Given the description of an element on the screen output the (x, y) to click on. 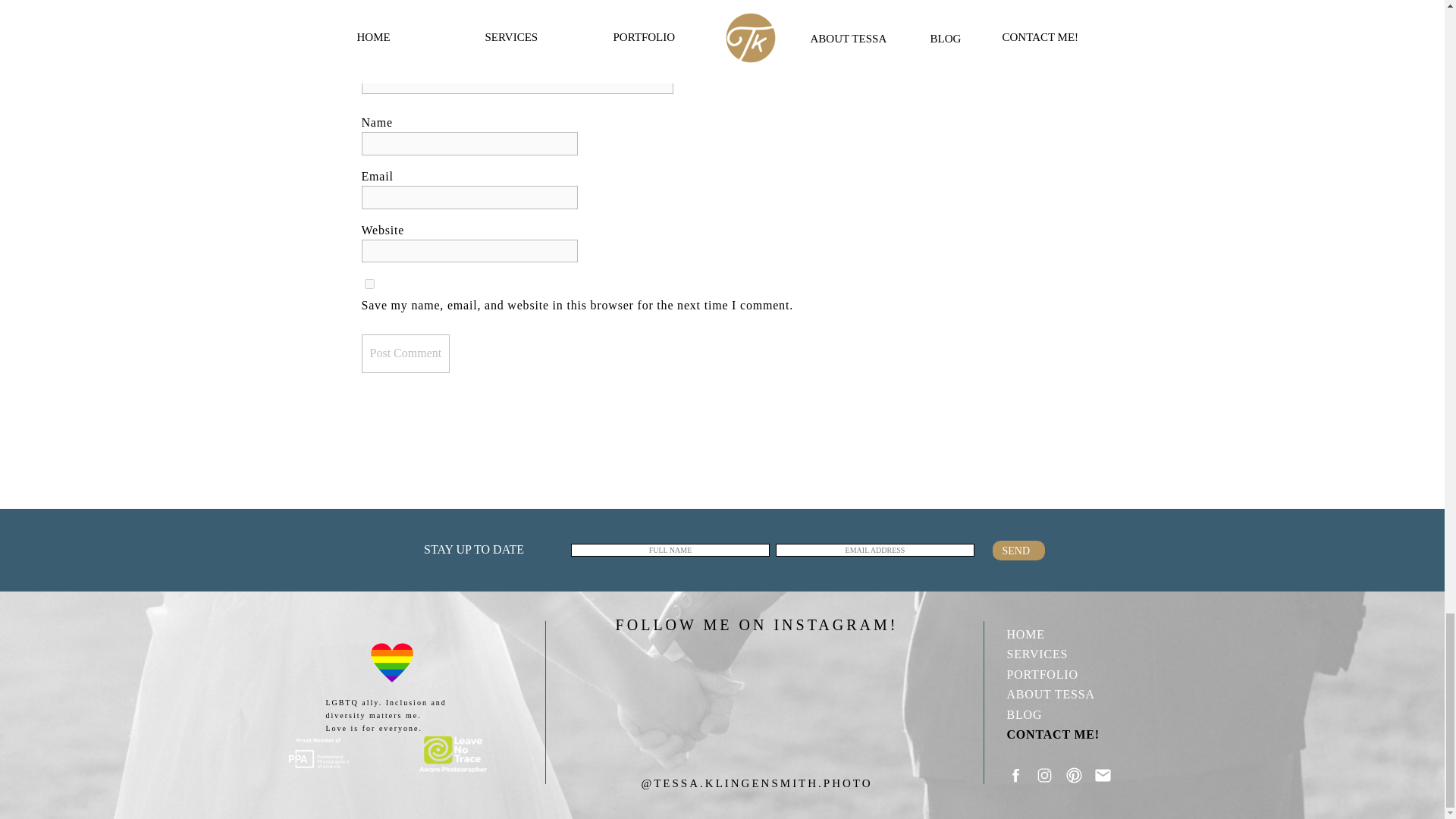
SERVICES (1064, 652)
Post Comment (405, 353)
Post Comment (405, 353)
SEND (1019, 550)
ABOUT TESSA (1064, 692)
FOLLOW ME ON INSTAGRAM! (756, 620)
yes (369, 284)
PORTFOLIO (1064, 673)
HOME (1064, 633)
CONTACT ME! (1064, 732)
